Given the description of an element on the screen output the (x, y) to click on. 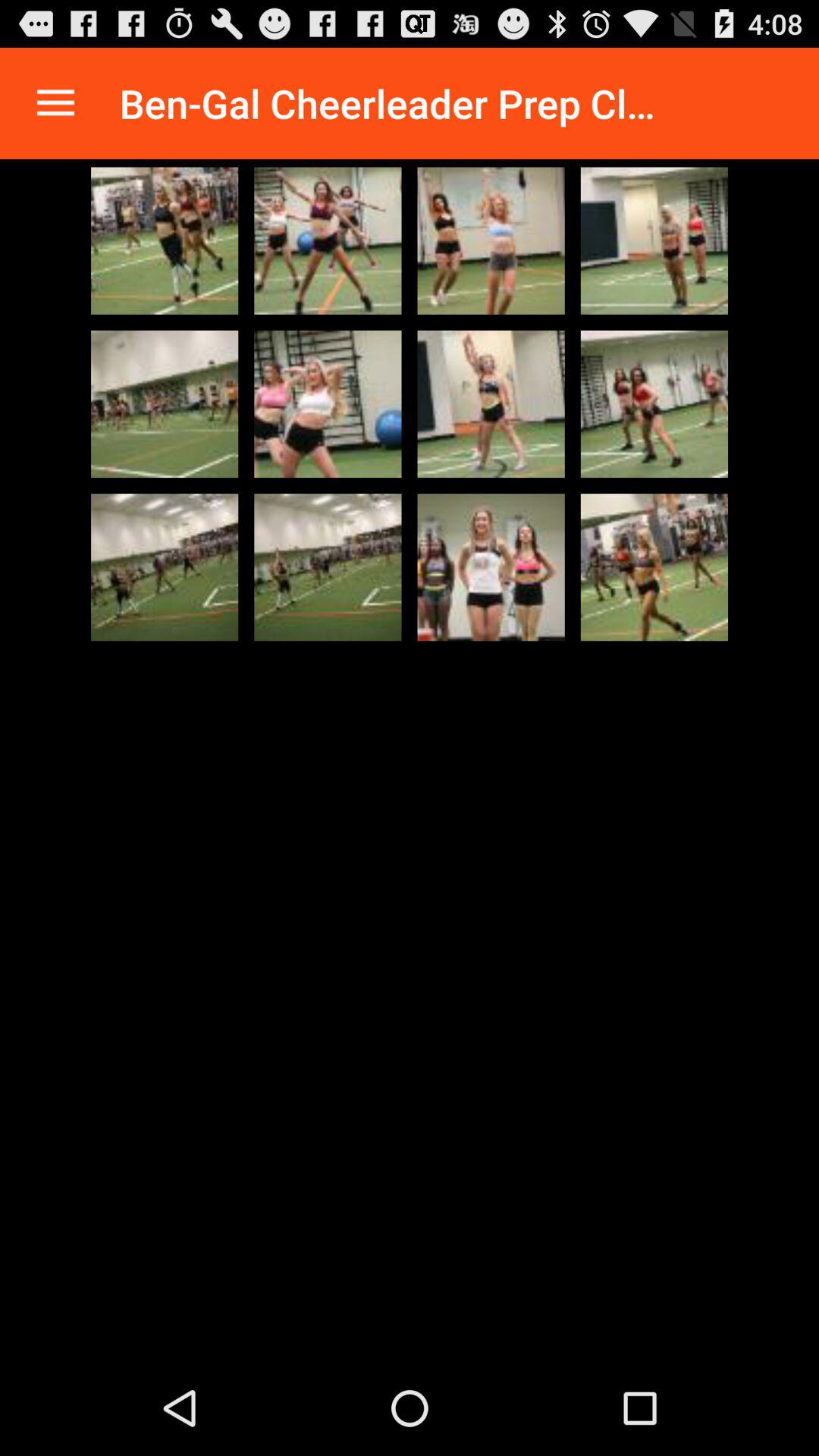
menu (55, 103)
